Given the description of an element on the screen output the (x, y) to click on. 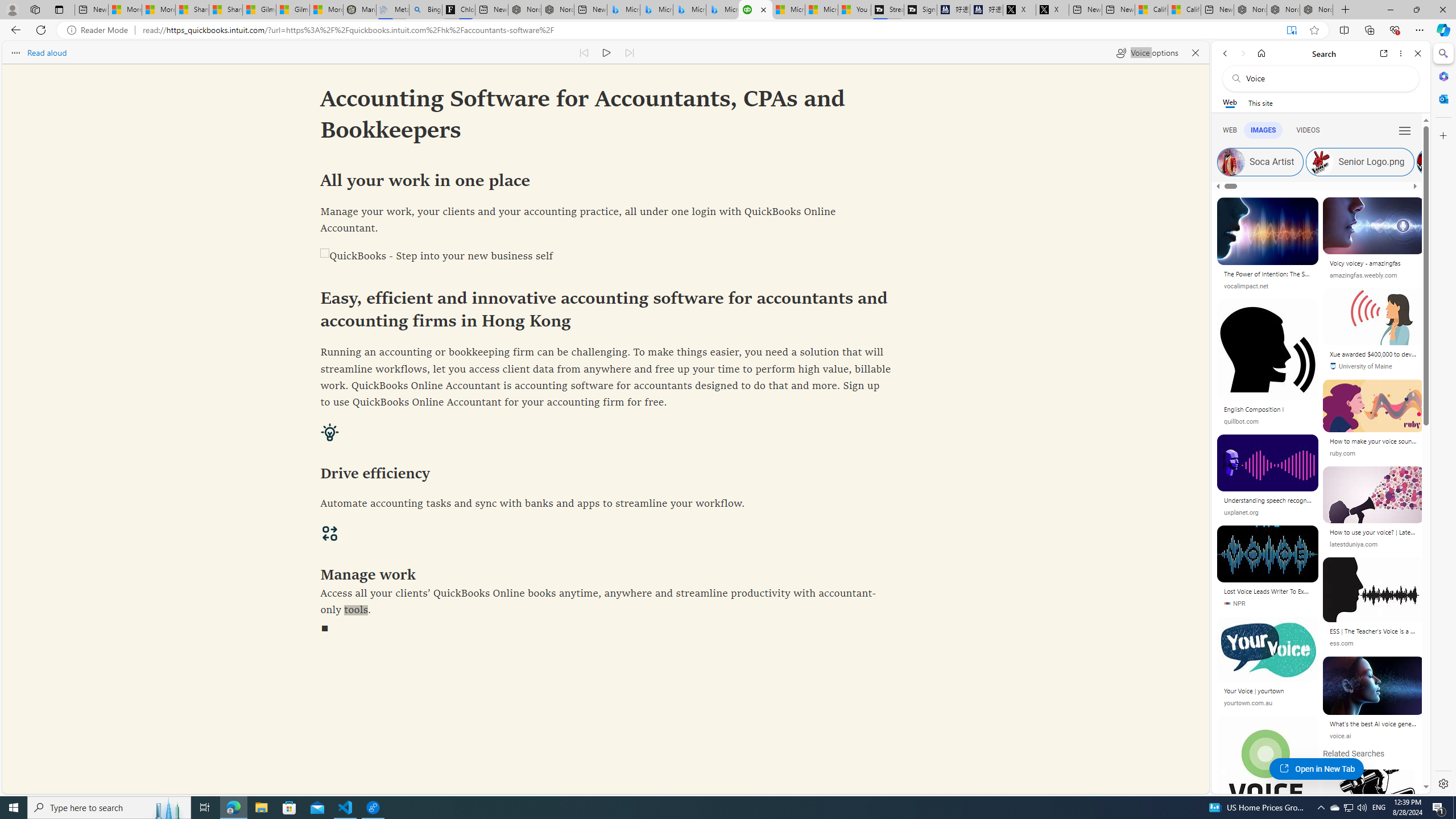
WEB (1230, 130)
quillbot.com (1240, 421)
Forward (1242, 53)
Web scope (1230, 102)
amazingfas.weebly.com (1372, 275)
yourtown.com.au (1267, 702)
App bar (728, 29)
X (1052, 9)
Nordace - #1 Japanese Best-Seller - Siena Smart Backpack (557, 9)
IMAGES (1263, 129)
Address and search bar (709, 29)
